Given the description of an element on the screen output the (x, y) to click on. 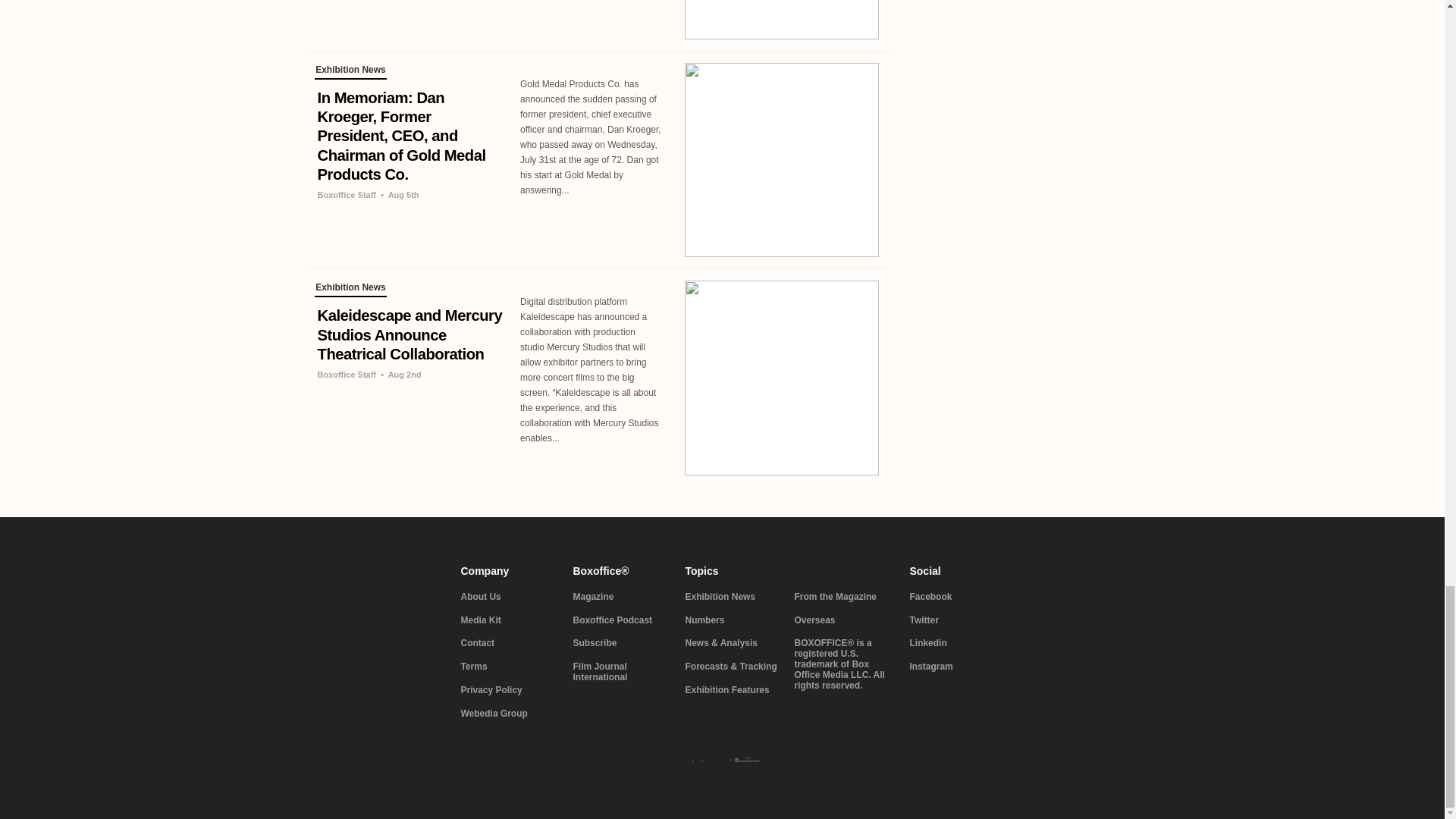
Privacy Policy (508, 690)
About Us (508, 597)
Company (508, 571)
Boxoffice Podcast (620, 620)
Terms (508, 666)
Media Kit (508, 620)
Magazine (620, 597)
Exhibition News (349, 71)
Webedia Group (508, 714)
Exhibition News (349, 289)
